Given the description of an element on the screen output the (x, y) to click on. 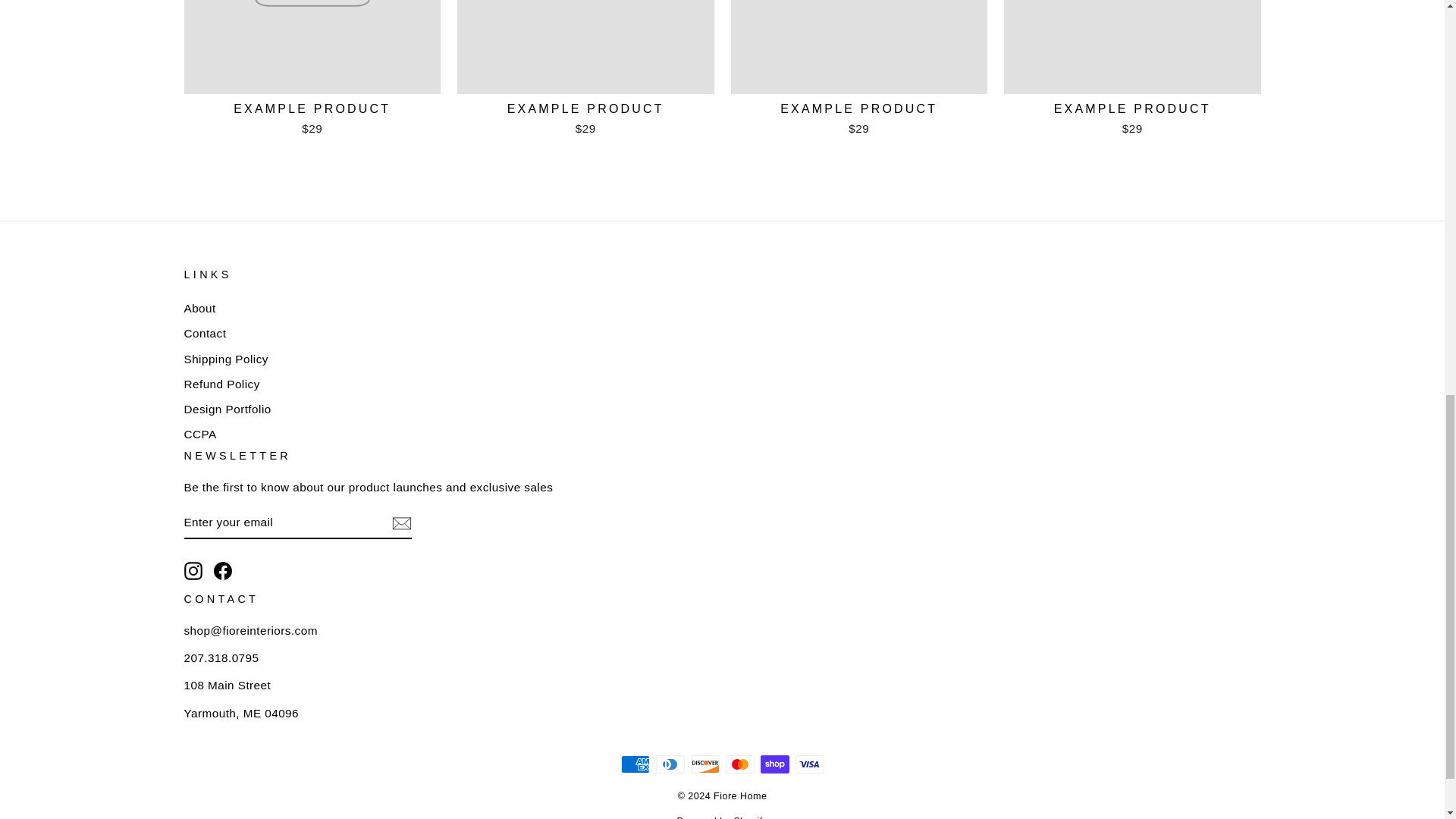
Mastercard (739, 764)
Shop Pay (774, 764)
Fiore Home on Instagram (192, 570)
Fiore Home on Facebook (222, 570)
Discover (704, 764)
Diners Club (669, 764)
Visa (809, 764)
American Express (634, 764)
